Given the description of an element on the screen output the (x, y) to click on. 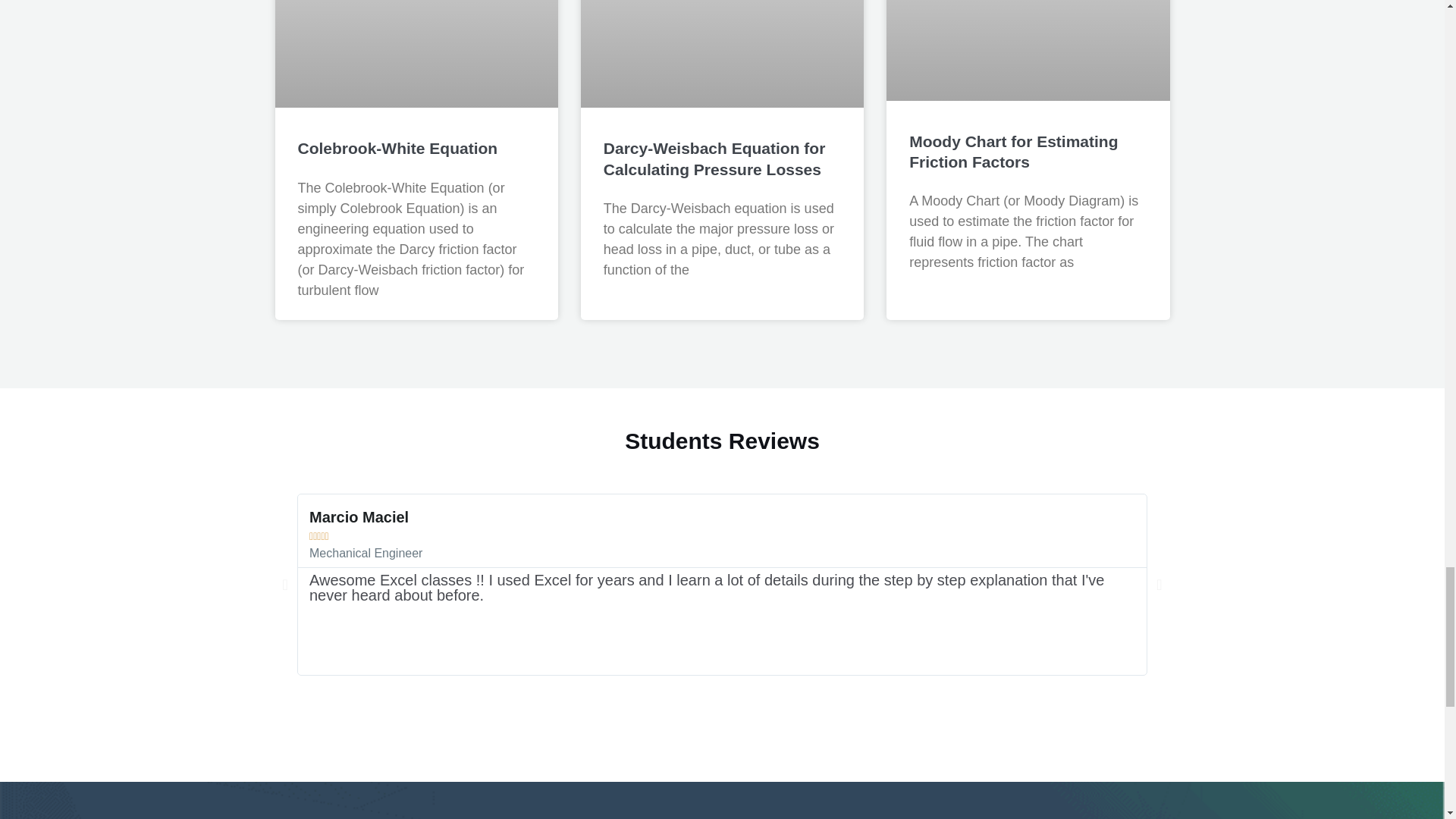
Darcy-Weisbach Equation for Calculating Pressure Losses (714, 158)
Colebrook-White Equation (397, 148)
Moody Chart for Estimating Friction Factors (1013, 151)
